Given the description of an element on the screen output the (x, y) to click on. 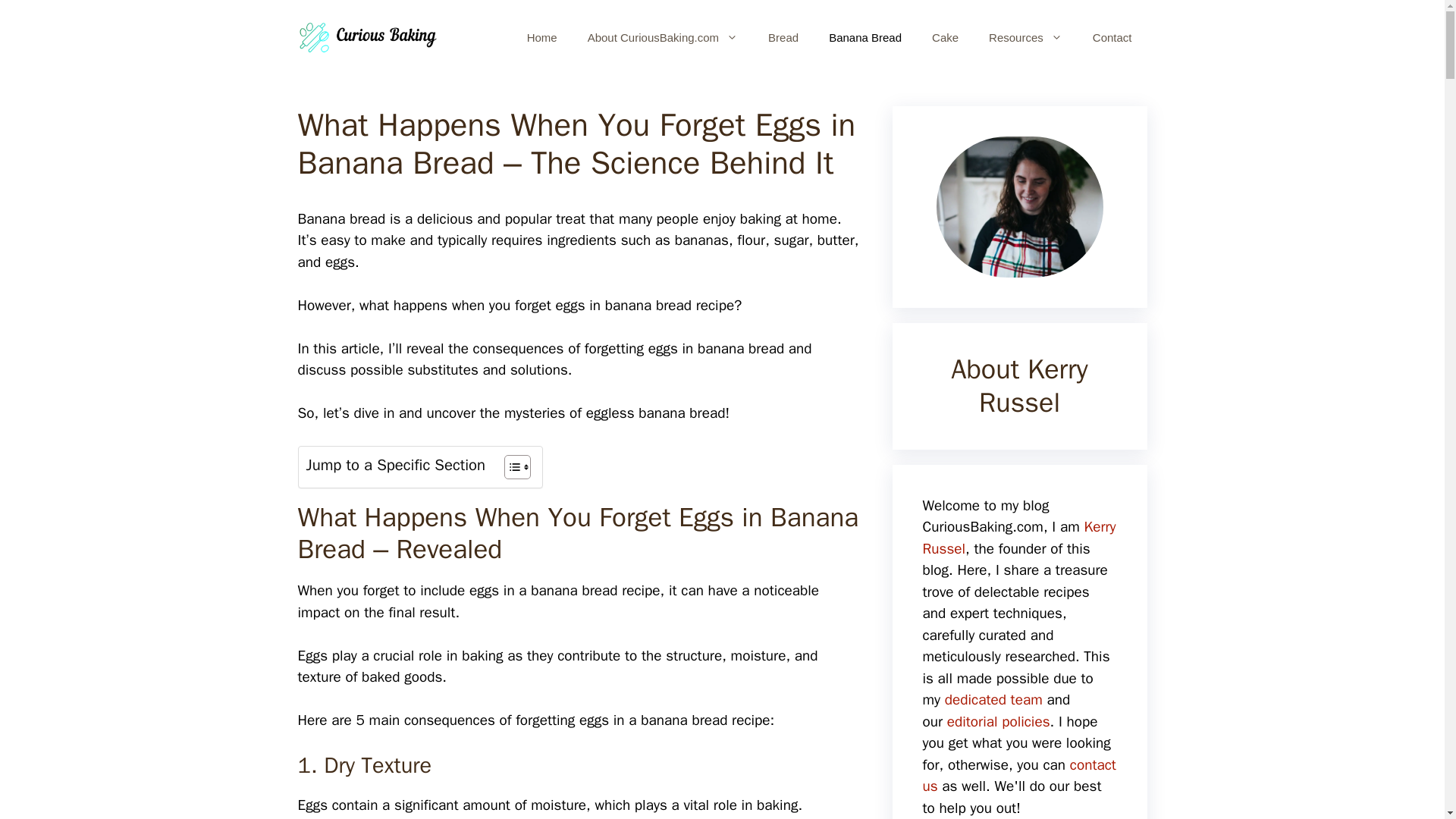
Bread (782, 37)
About CuriousBaking.com (662, 37)
Resources (1025, 37)
Banana Bread (865, 37)
Home (542, 37)
Contact (1112, 37)
Cake (945, 37)
